Given the description of an element on the screen output the (x, y) to click on. 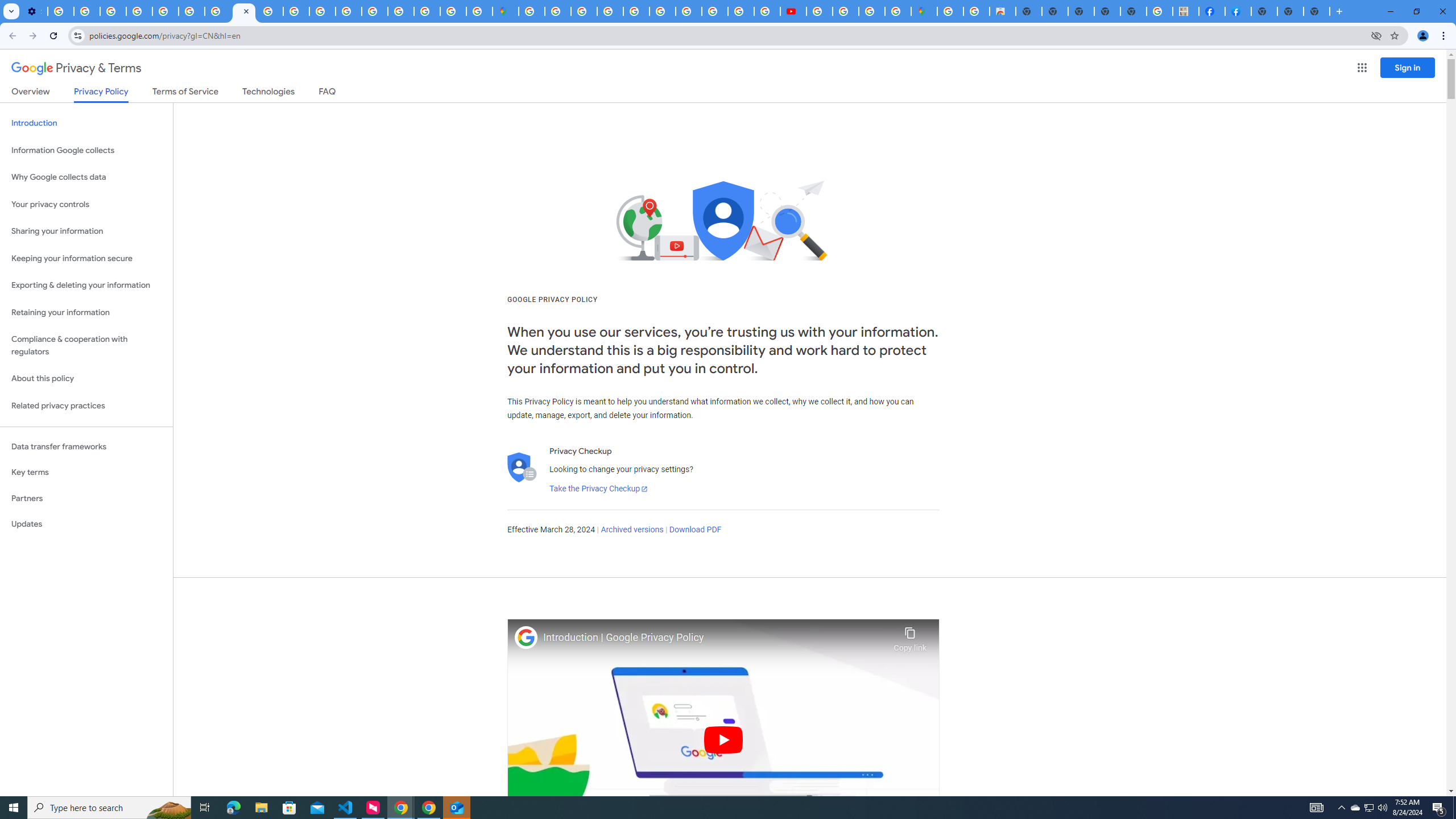
About this policy (86, 379)
Play (723, 739)
Subscriptions - YouTube (792, 11)
Related privacy practices (86, 405)
New Tab (1264, 11)
YouTube (191, 11)
